Given the description of an element on the screen output the (x, y) to click on. 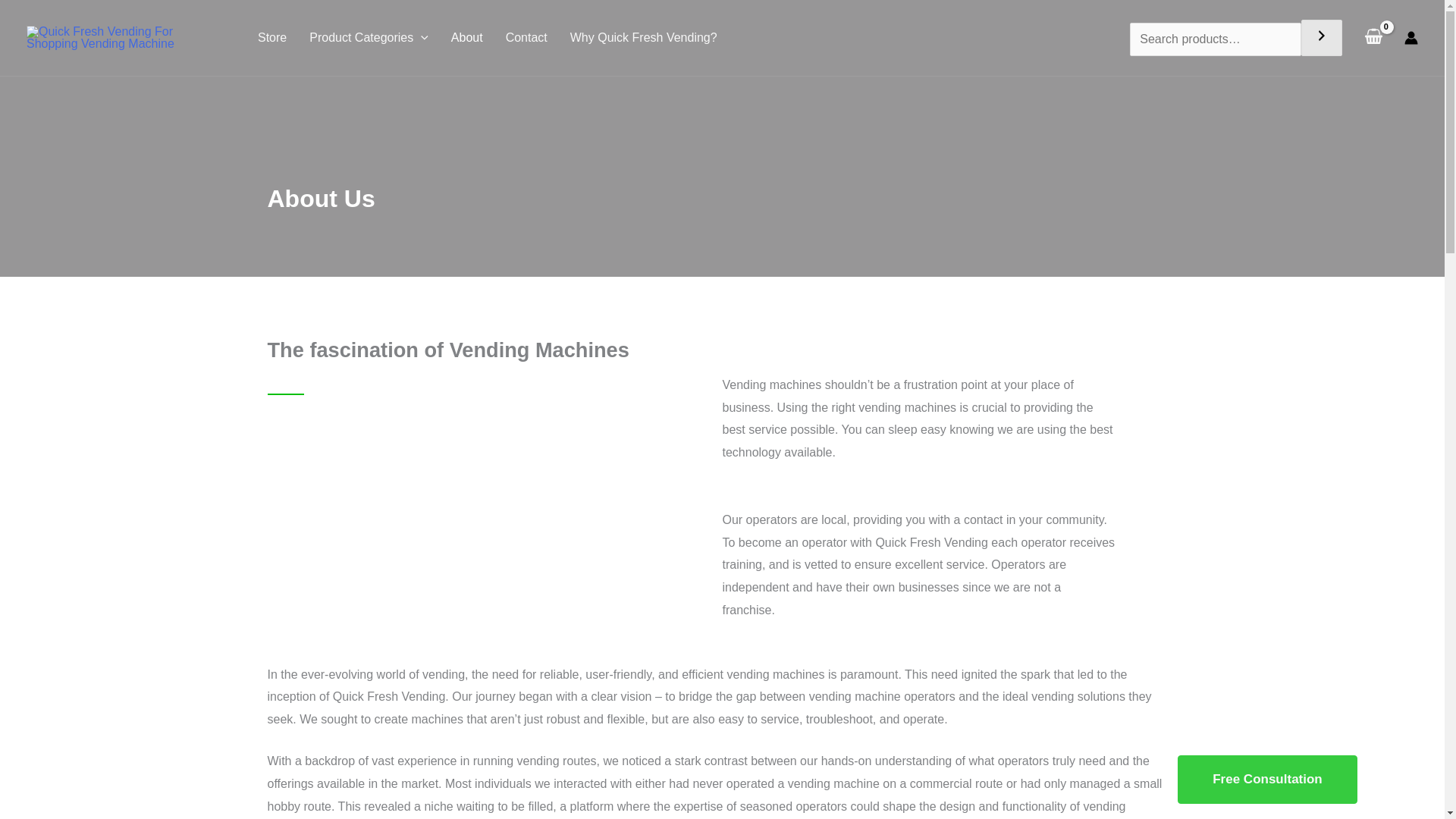
Contact (527, 38)
Product Categories (368, 38)
Why Quick Fresh Vending? (644, 38)
Store (272, 38)
About (467, 38)
